Given the description of an element on the screen output the (x, y) to click on. 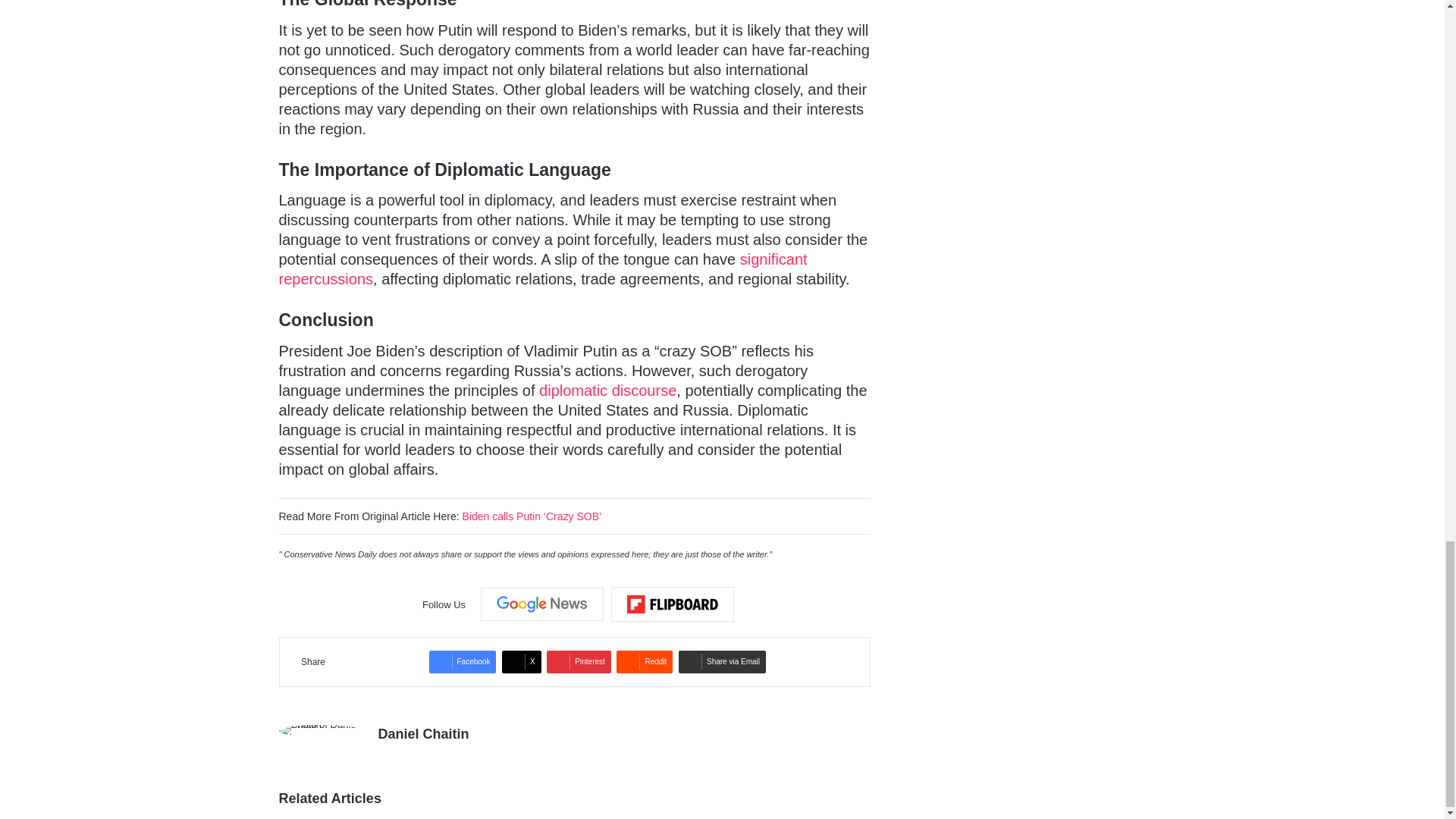
X (521, 661)
Facebook (462, 661)
Pinterest (578, 661)
X (521, 661)
Google News (542, 604)
Reddit (643, 661)
Reddit (643, 661)
Pinterest (578, 661)
diplomatic discourse (607, 390)
